Given the description of an element on the screen output the (x, y) to click on. 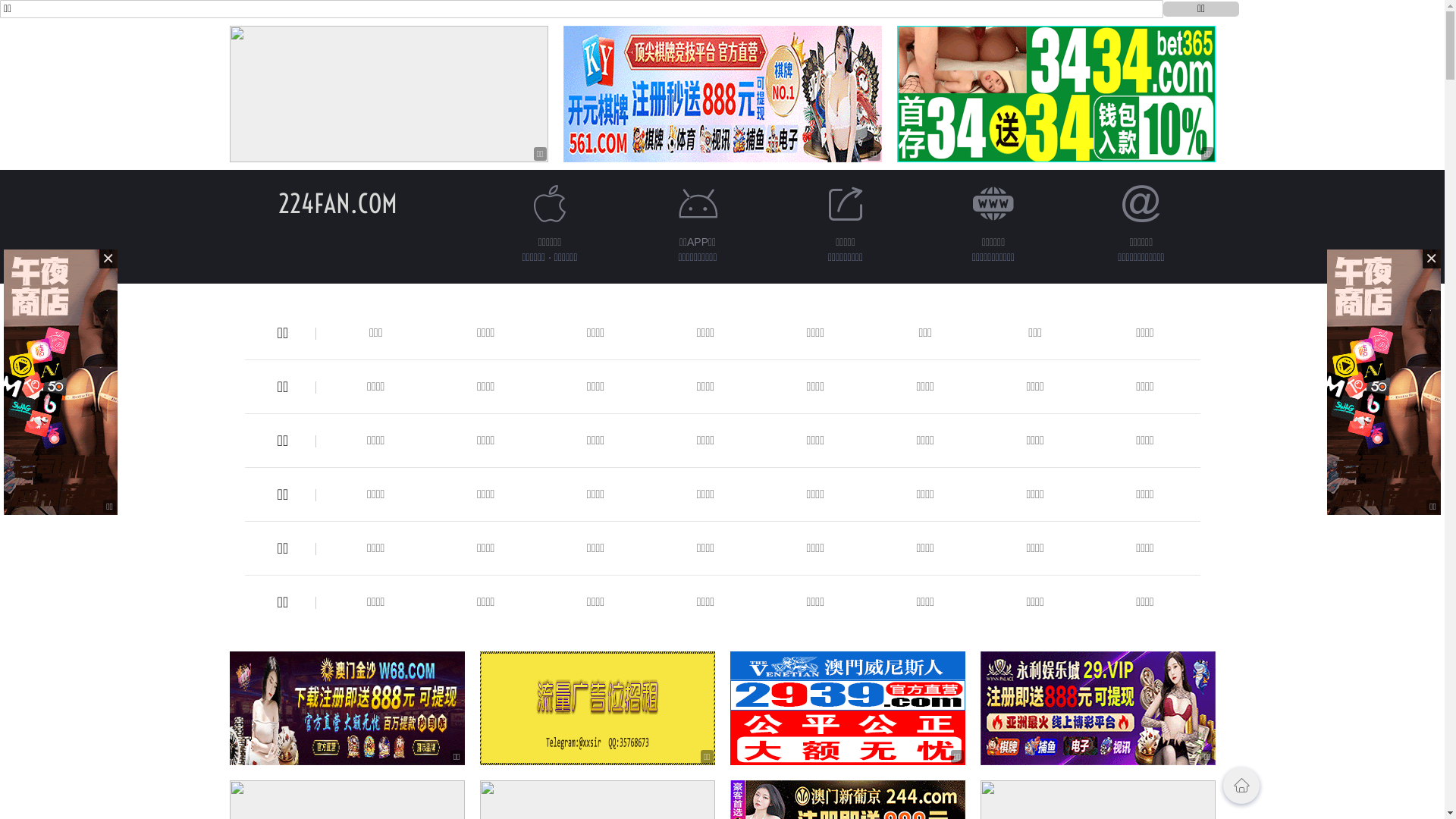
224FAN.COM Element type: text (337, 203)
